Given the description of an element on the screen output the (x, y) to click on. 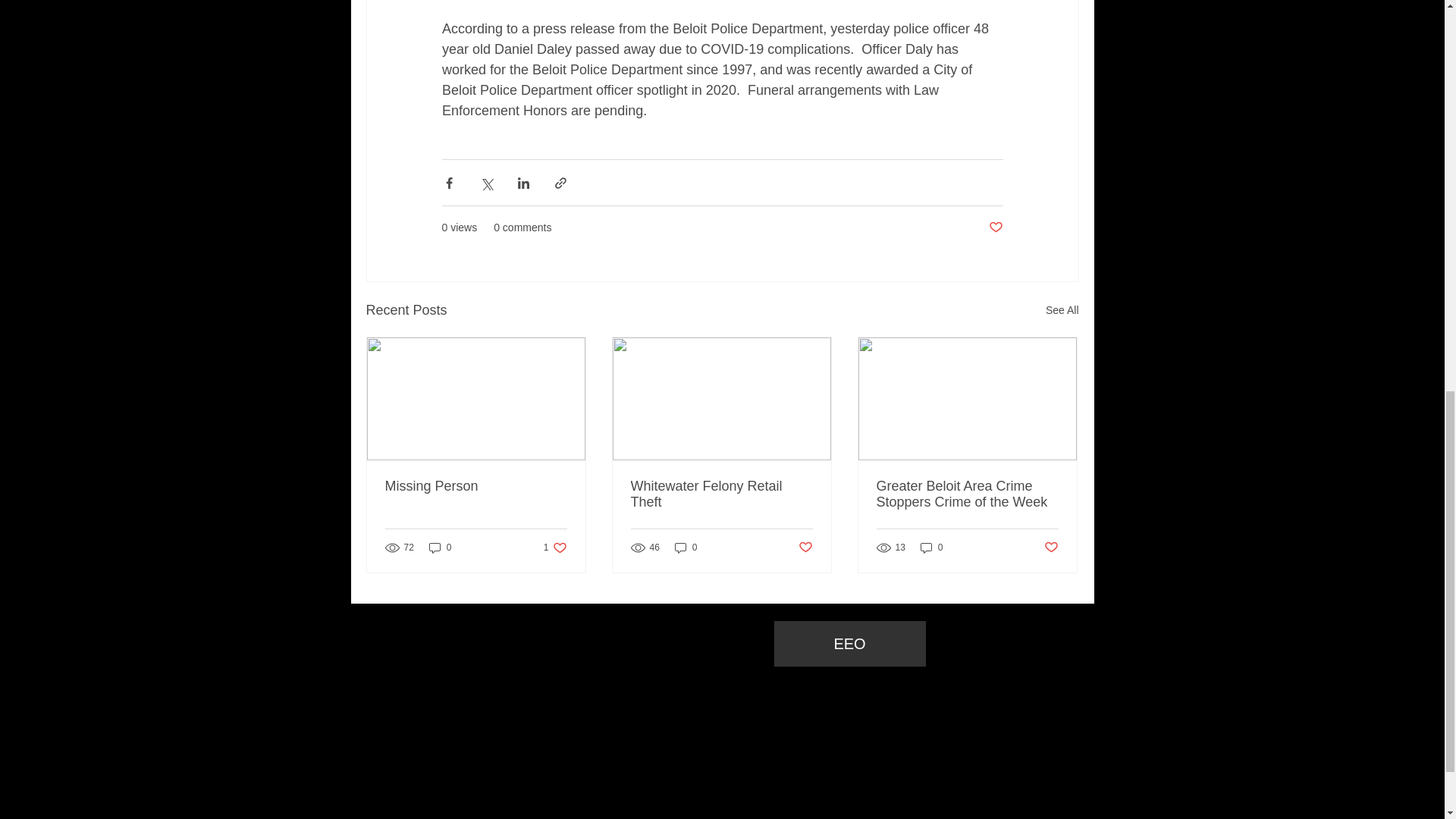
0 (685, 546)
0 (931, 546)
Greater Beloit Area Crime Stoppers Crime of the Week (967, 494)
Whitewater Felony Retail Theft (721, 494)
Missing Person (476, 486)
Post not marked as liked (995, 227)
Post not marked as liked (804, 547)
See All (555, 546)
0 (1061, 310)
